Given the description of an element on the screen output the (x, y) to click on. 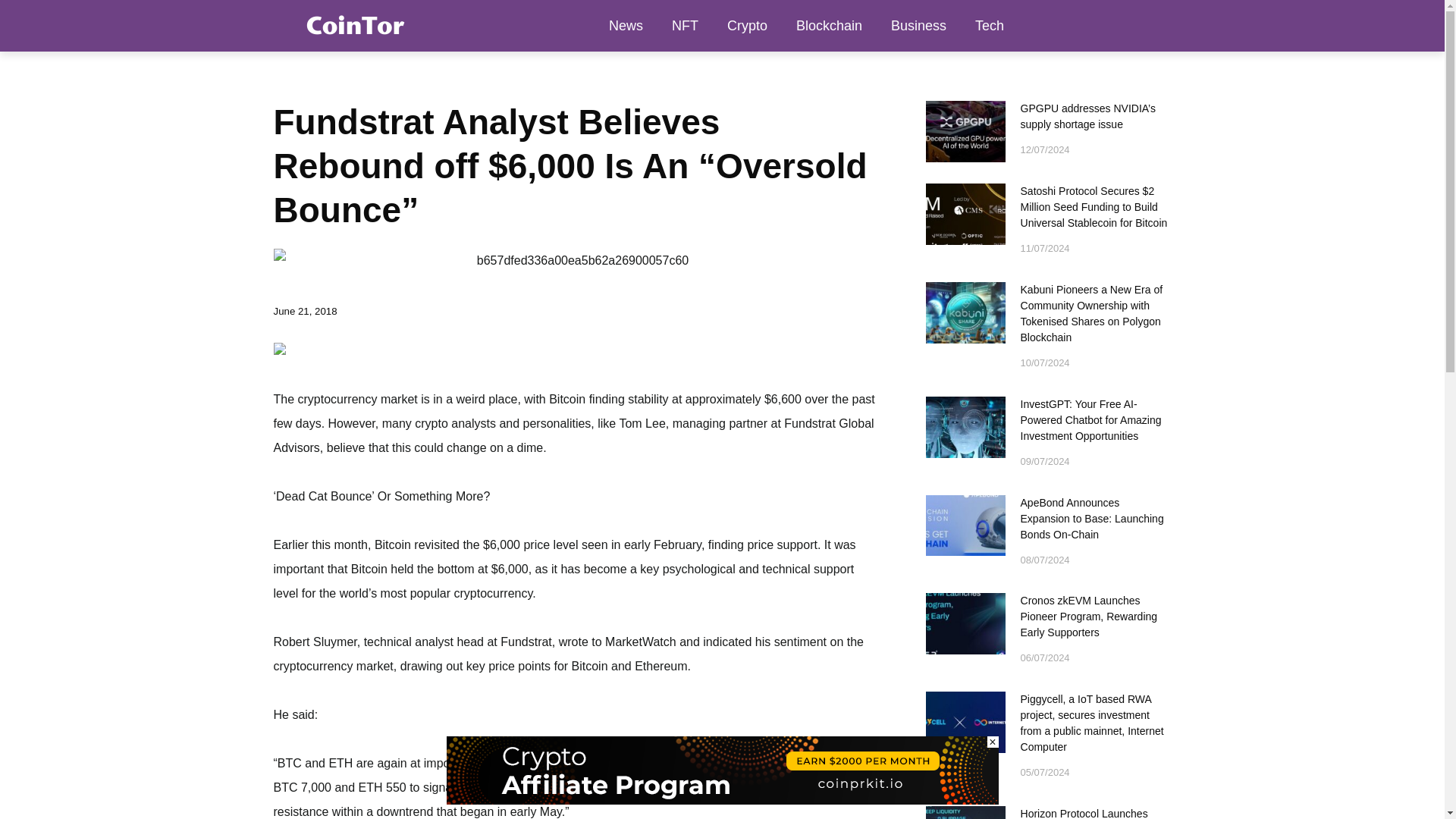
News (626, 25)
NFT (685, 25)
close (992, 741)
Crypto (747, 25)
Blockchain (828, 25)
CoinTor (353, 25)
b657dfed336a00ea5b62a26900057c60 (576, 260)
Business (918, 25)
Tech (988, 25)
